Given the description of an element on the screen output the (x, y) to click on. 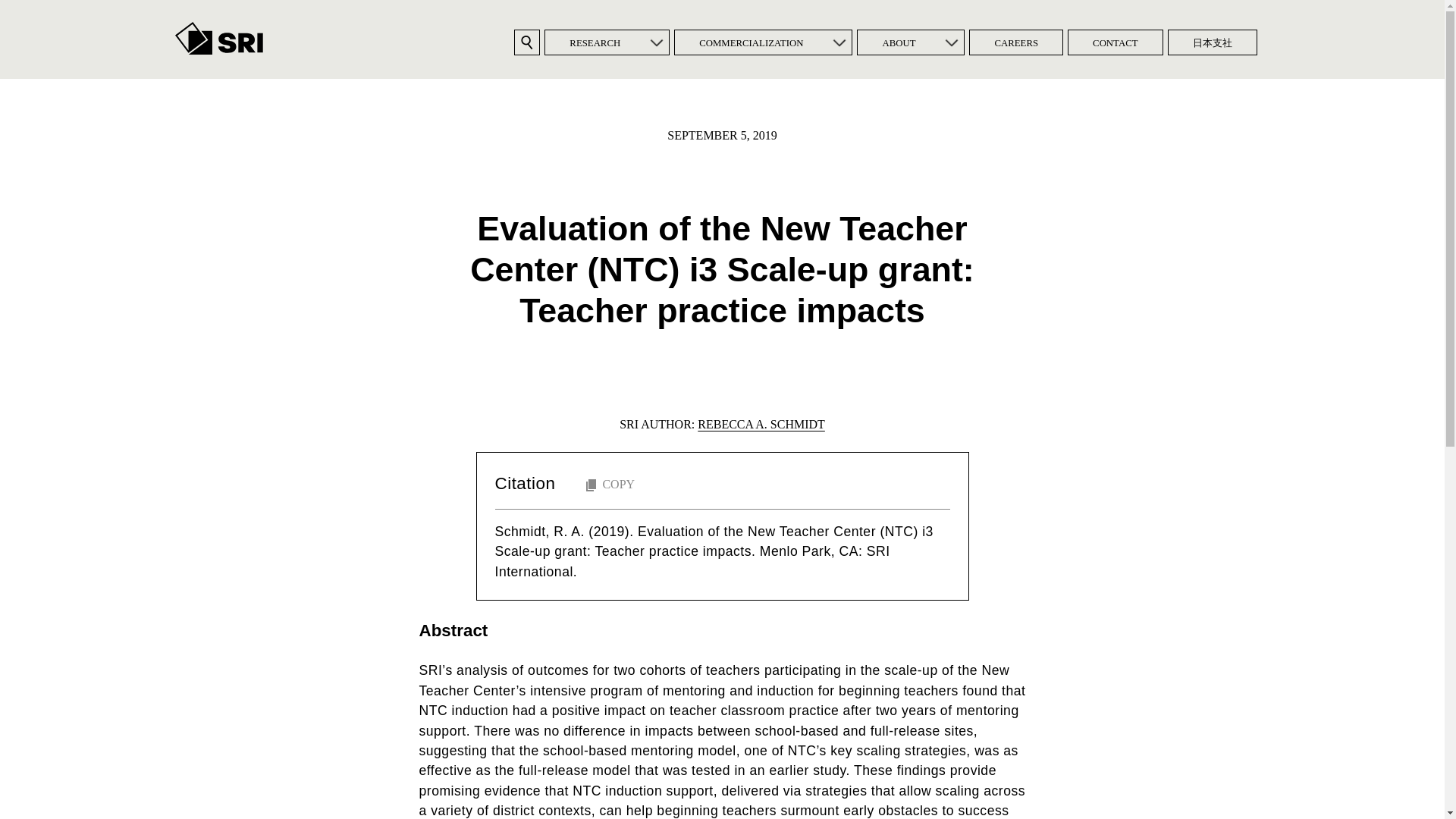
CAREERS (1015, 42)
CONTACT (1114, 42)
ABOUT (898, 42)
RESEARCH (594, 42)
COMMERCIALIZATION (751, 42)
